Given the description of an element on the screen output the (x, y) to click on. 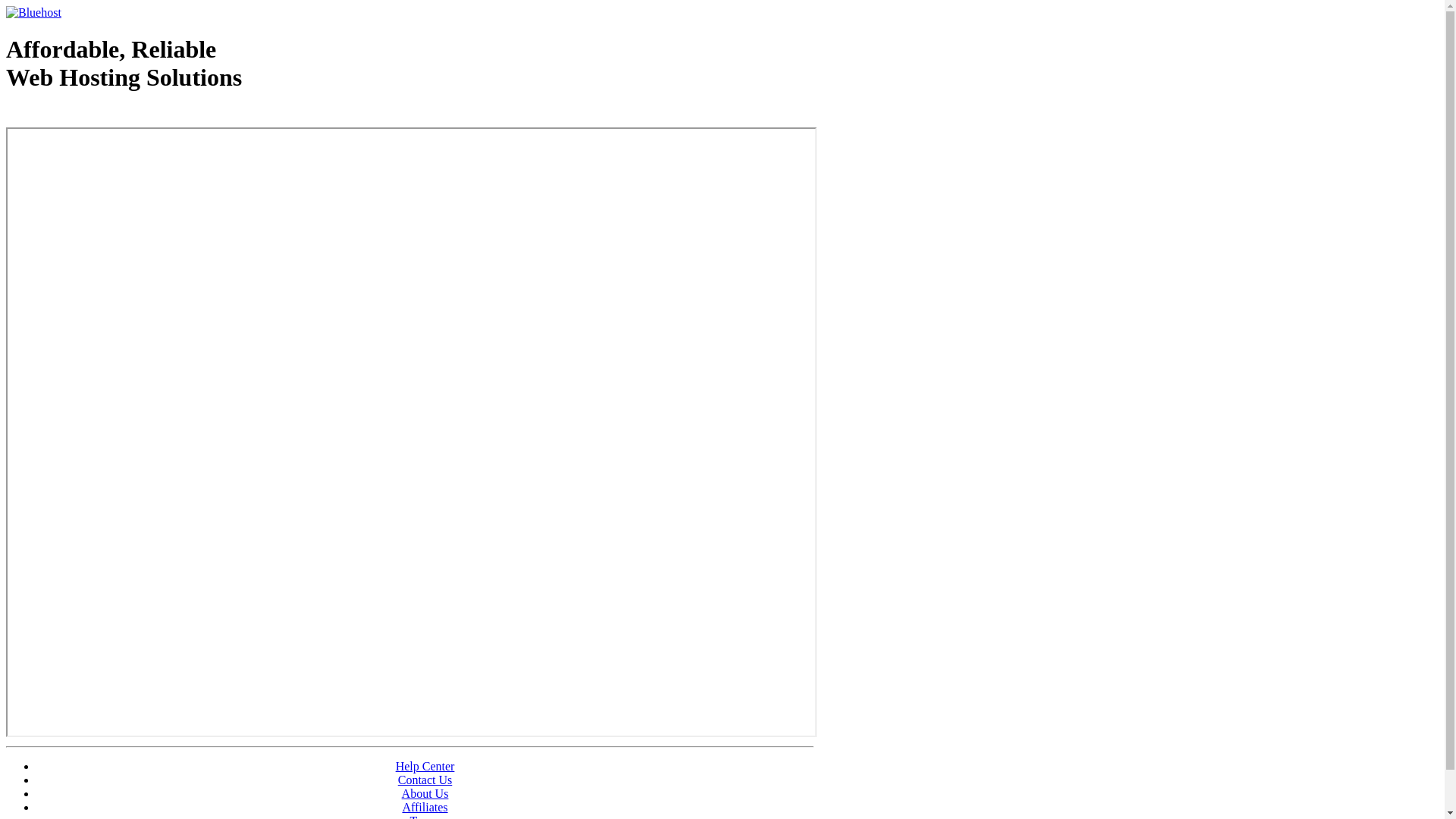
About Us Element type: text (424, 793)
Help Center Element type: text (425, 765)
Web Hosting - courtesy of www.bluehost.com Element type: text (94, 115)
Affiliates Element type: text (424, 806)
Contact Us Element type: text (425, 779)
